Given the description of an element on the screen output the (x, y) to click on. 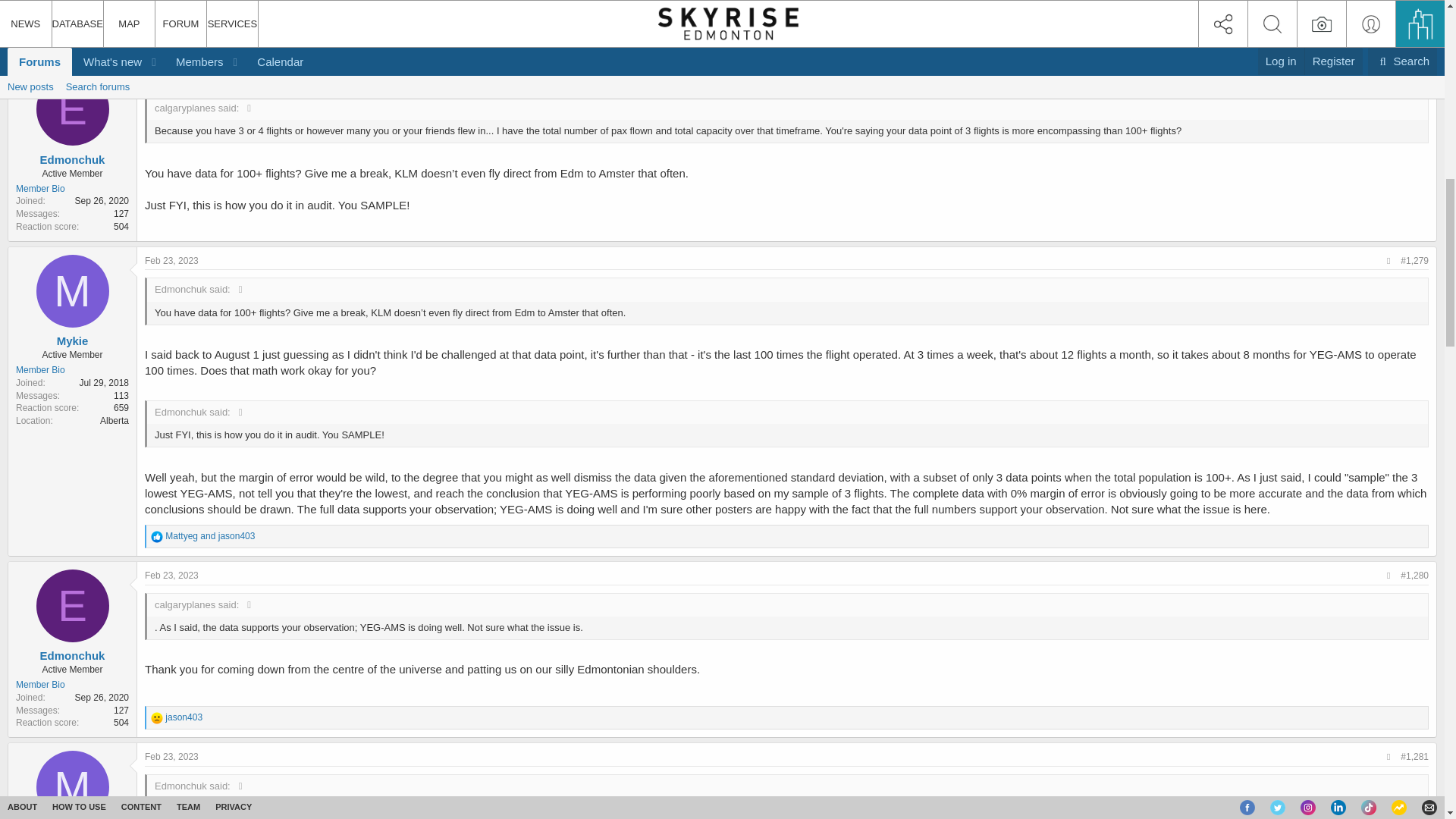
Like (157, 536)
Like (157, 39)
Feb 23, 2023 at 4:10 PM (171, 575)
Feb 23, 2023 at 4:06 PM (171, 260)
Feb 23, 2023 at 3:57 PM (171, 78)
Feb 24, 2023 at 8:16 AM (1403, 13)
